Given the description of an element on the screen output the (x, y) to click on. 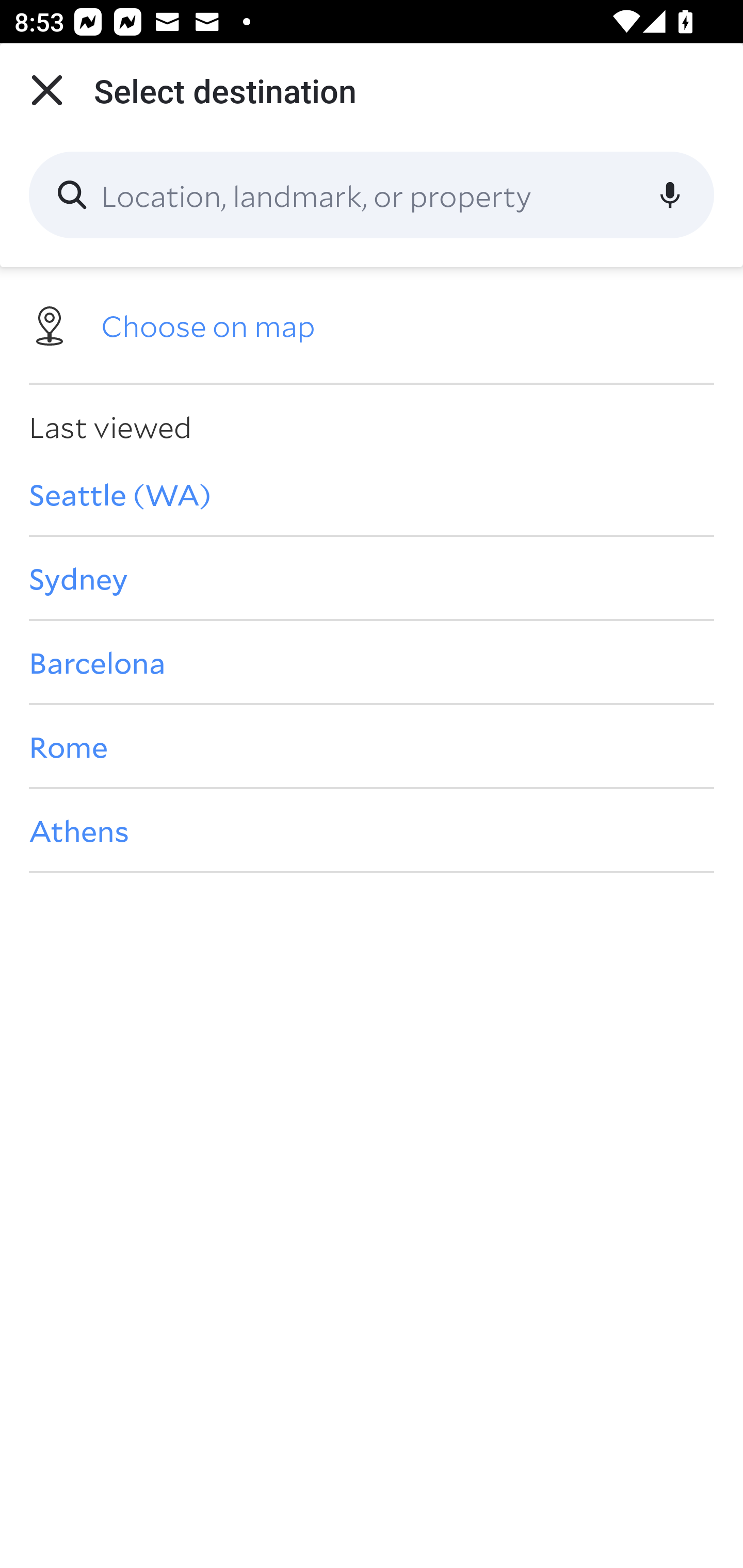
Location, landmark, or property (371, 195)
Choose on map (371, 324)
Seattle (WA) (371, 493)
Sydney (371, 577)
Barcelona (371, 661)
Rome (371, 746)
Athens (371, 829)
